Given the description of an element on the screen output the (x, y) to click on. 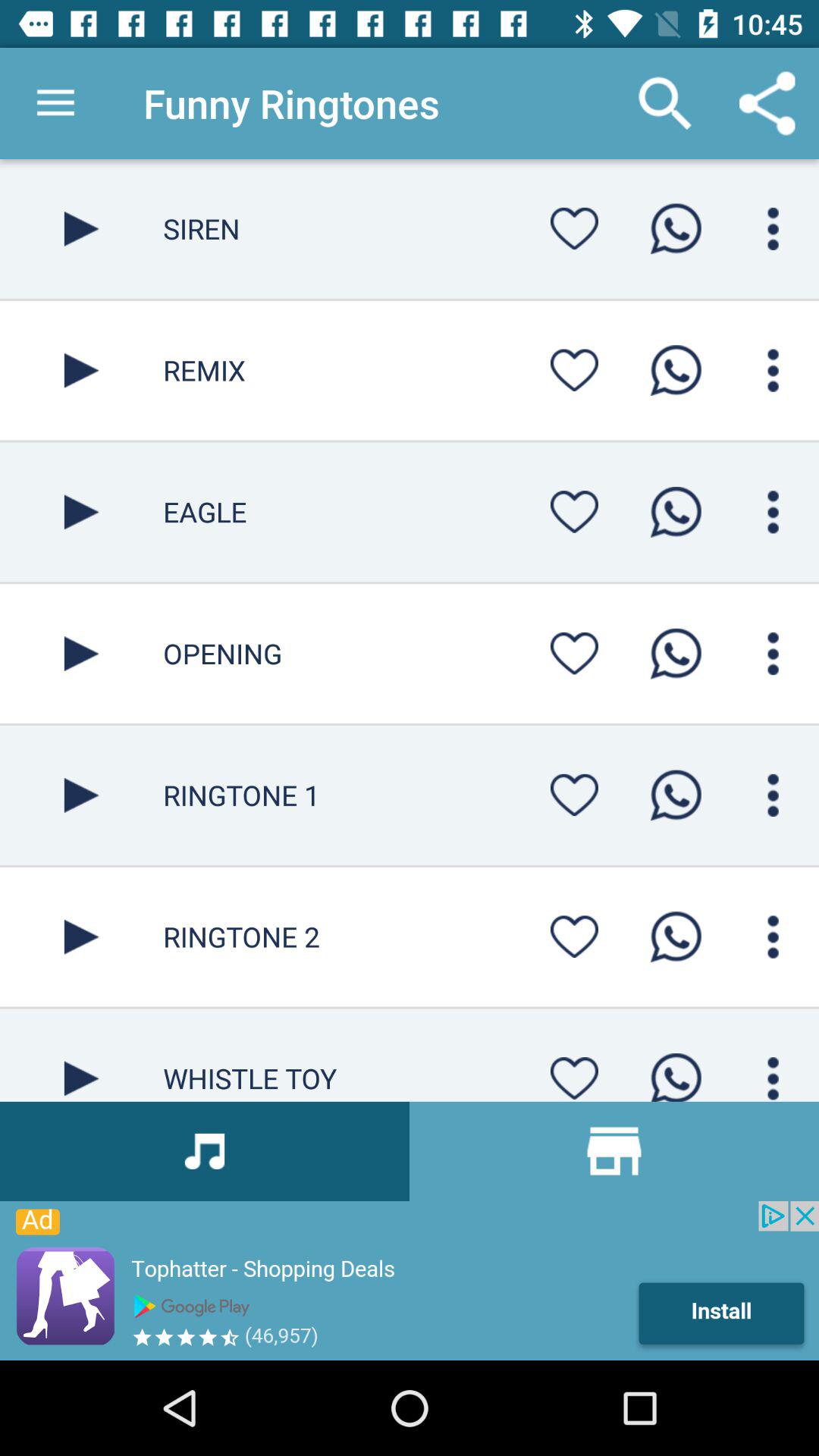
menu page (773, 228)
